Given the description of an element on the screen output the (x, y) to click on. 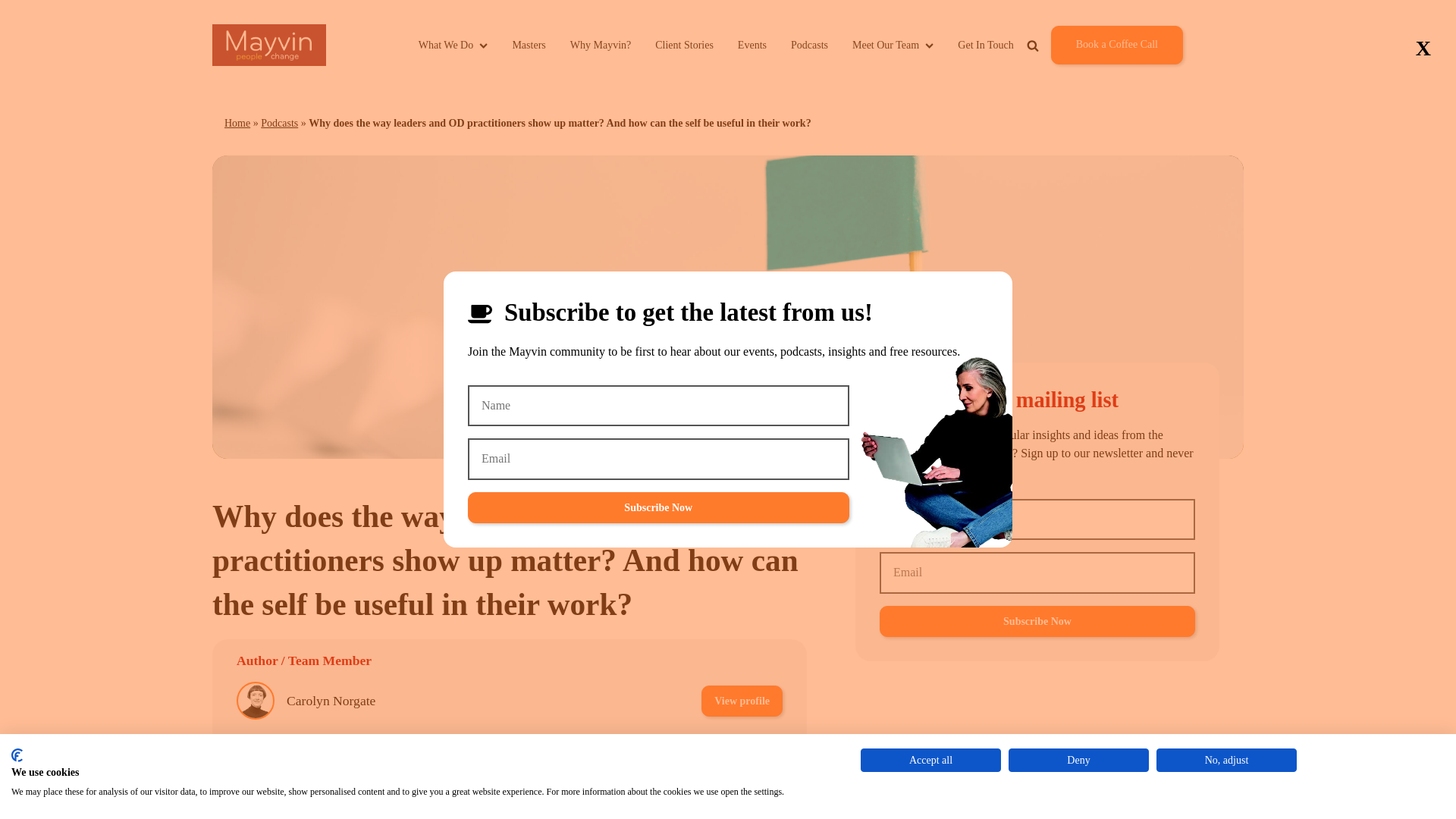
Podcast (642, 805)
Subscribe Now (657, 507)
Podcasts (809, 45)
Carolyn Norgate (330, 700)
Accept all (930, 760)
Client Stories (684, 45)
Search (1078, 80)
View profile (742, 700)
View profile (742, 753)
Martin Saville (324, 753)
Home (237, 122)
Podcasts (279, 122)
Why Mayvin? (600, 45)
Subscribe Now (1037, 621)
Get In Touch (985, 45)
